Given the description of an element on the screen output the (x, y) to click on. 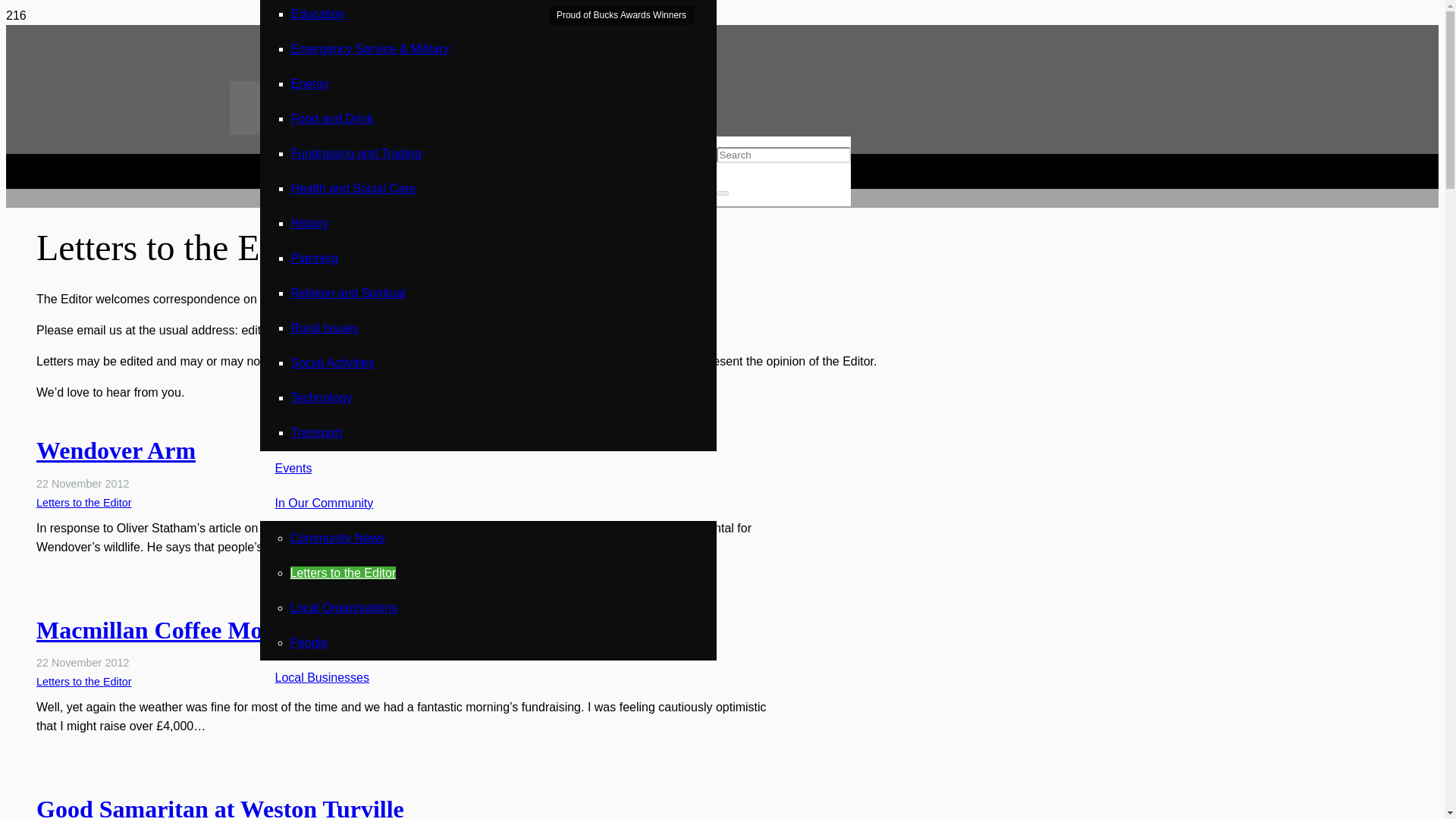
People (308, 642)
Health and Social Care (353, 187)
Local Businesses (321, 676)
Community News (336, 537)
Religion and Spiritual (348, 292)
Wendover Arm (115, 450)
In Our Community (323, 502)
Rural Issues (324, 327)
Letters to the Editor (84, 502)
Events (292, 468)
Energy (310, 83)
Technology (321, 397)
Macmillan Coffee Morning (177, 629)
Food and Drink (332, 118)
Local Organisations (342, 607)
